Given the description of an element on the screen output the (x, y) to click on. 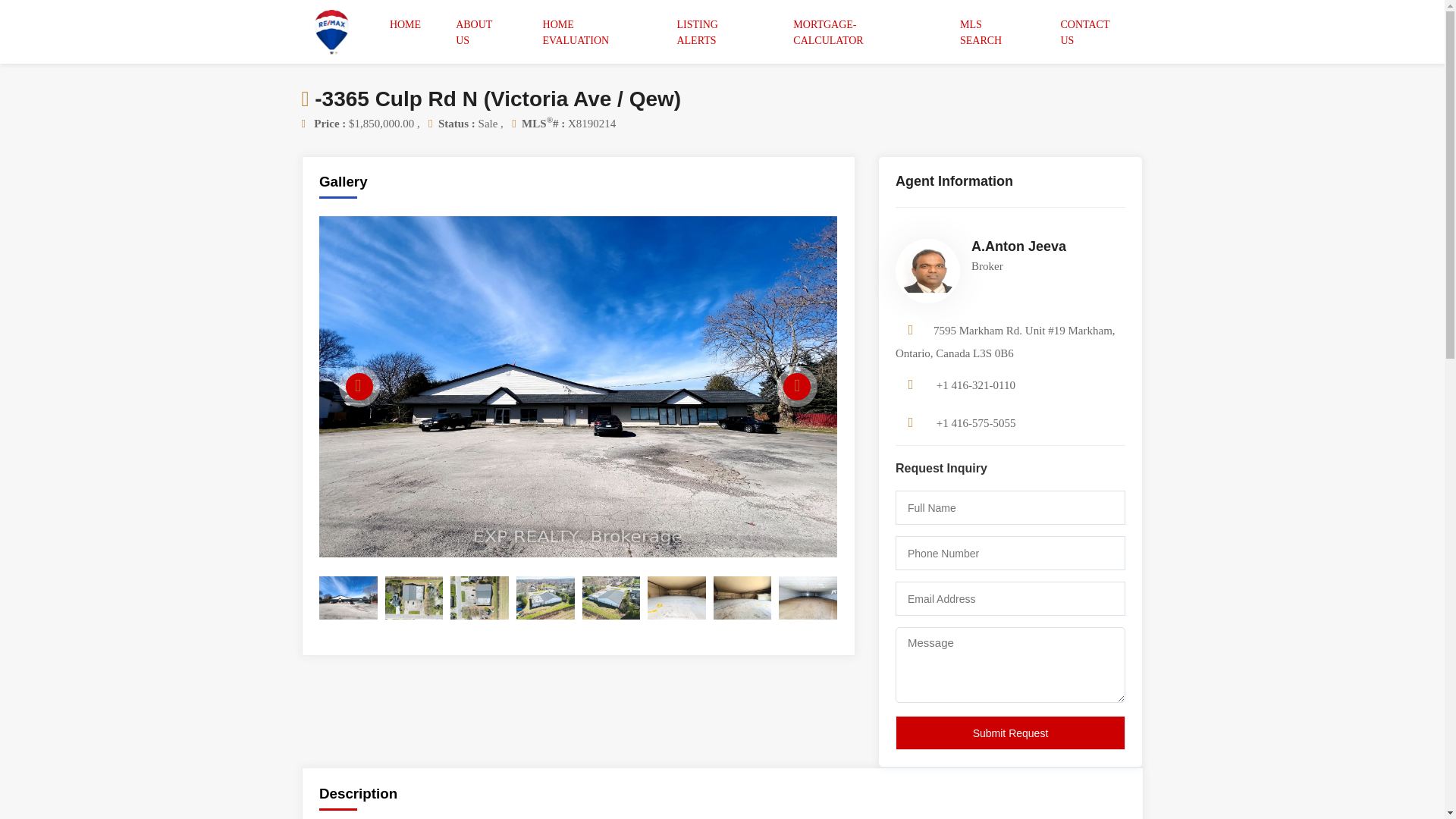
HOME EVALUATION (593, 31)
MORTGAGE-CALCULATOR (859, 31)
ABOUT US (482, 31)
Submit Request (1010, 732)
CONTACT US (1092, 31)
HOME (405, 23)
Submit Request (1010, 732)
MLS SEARCH (993, 31)
LISTING ALERTS (717, 31)
